Given the description of an element on the screen output the (x, y) to click on. 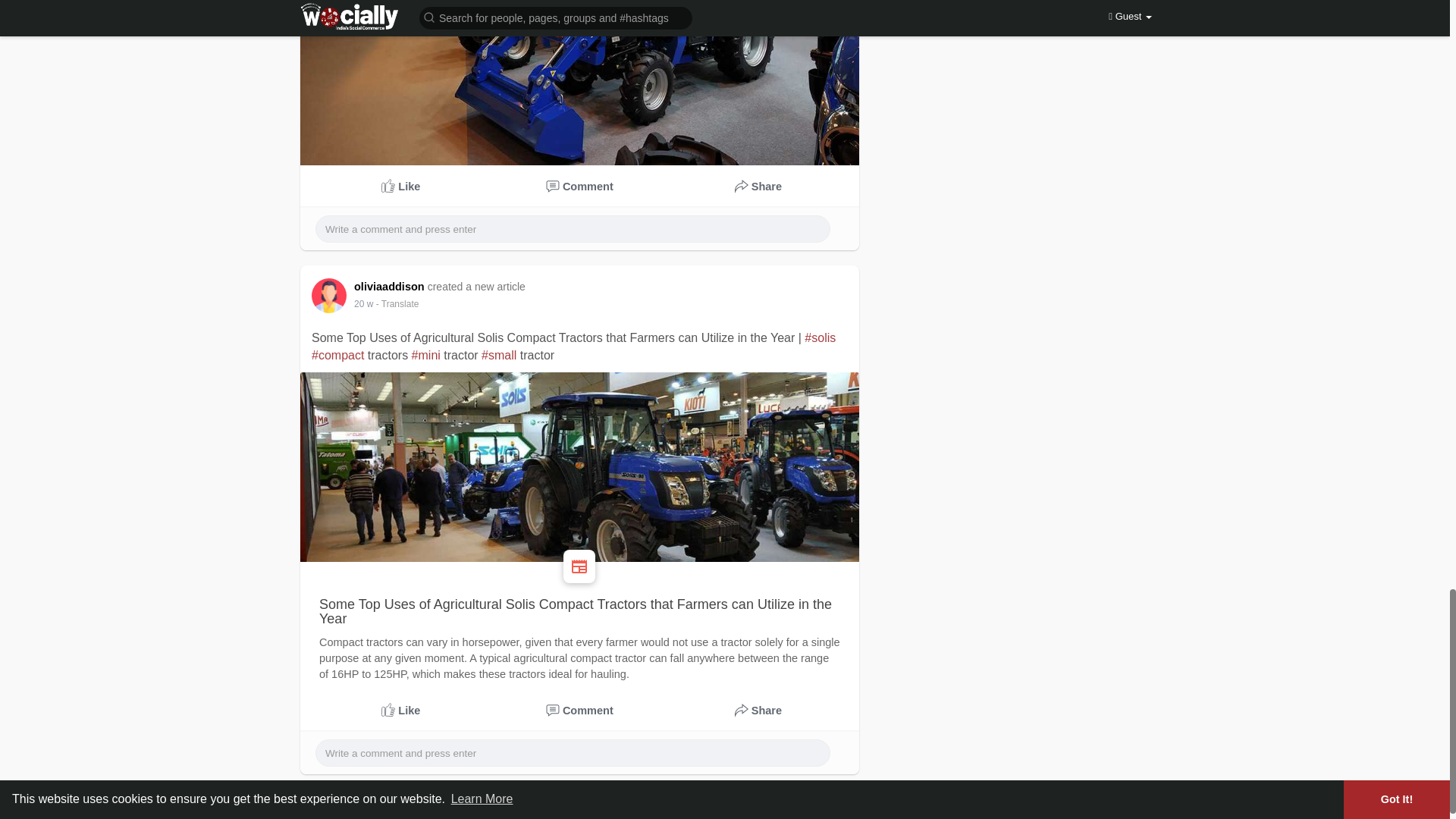
20 w (362, 303)
Share (757, 186)
oliviaaddison (391, 286)
Translate (397, 303)
Share (757, 710)
Comments (579, 186)
Comments (579, 710)
20 w (362, 303)
